Given the description of an element on the screen output the (x, y) to click on. 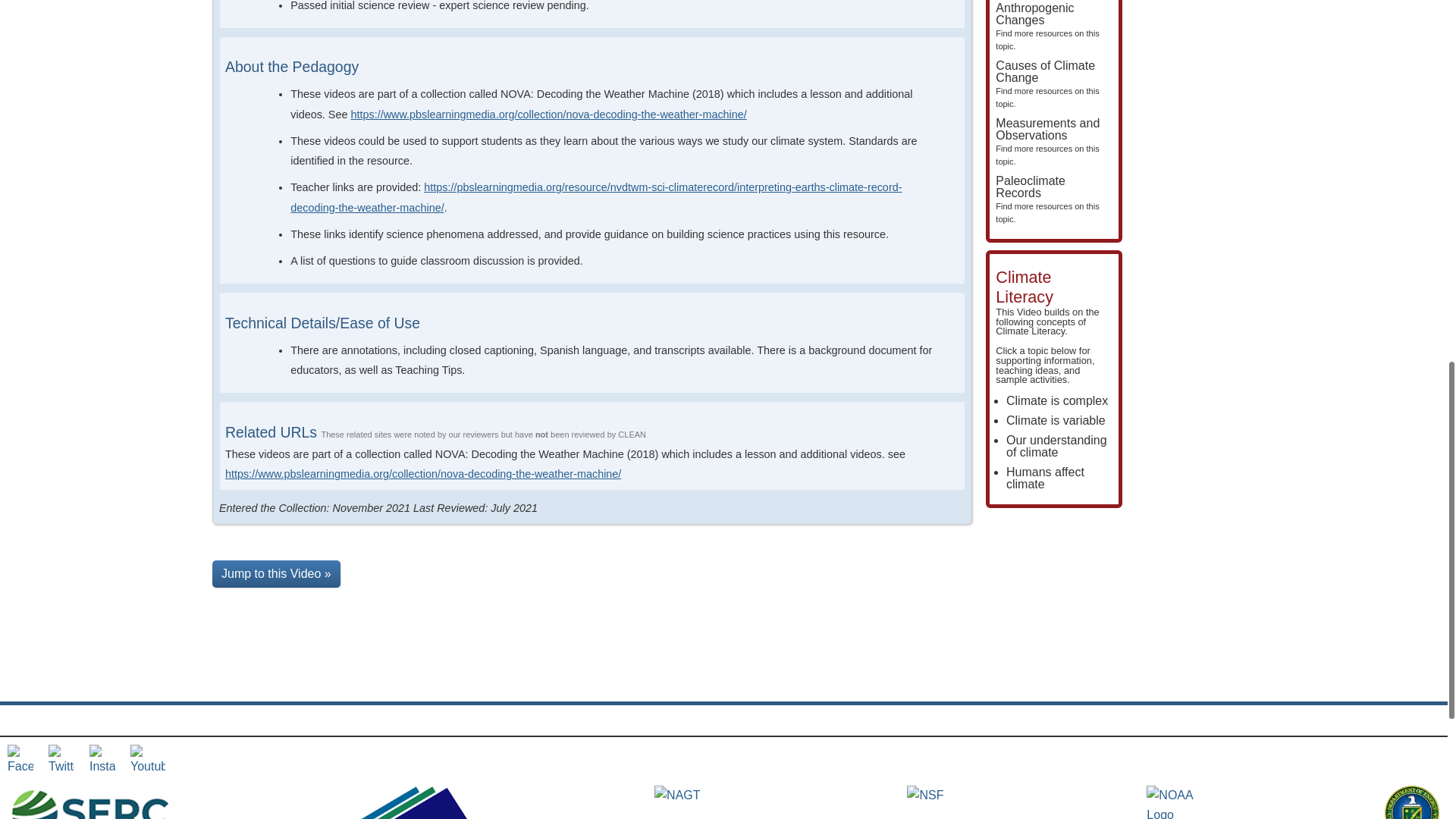
Climate is variable (1047, 199)
Humans affect climate (1047, 26)
Climate Literacy (1047, 83)
Our understanding of climate (1055, 420)
Climate is complex (1045, 478)
